Given the description of an element on the screen output the (x, y) to click on. 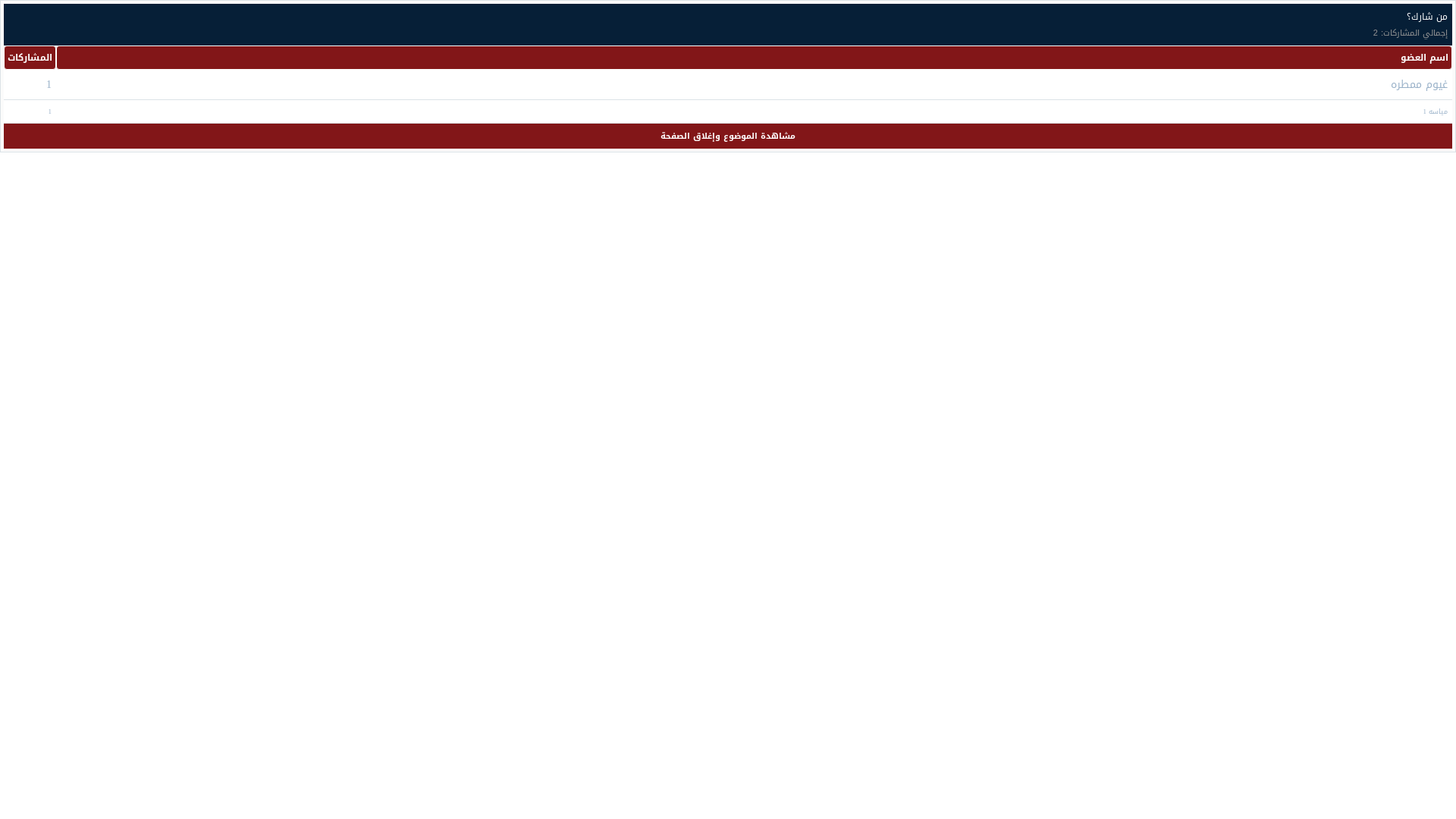
1 Element type: text (48, 84)
1 Element type: text (50, 111)
